Given the description of an element on the screen output the (x, y) to click on. 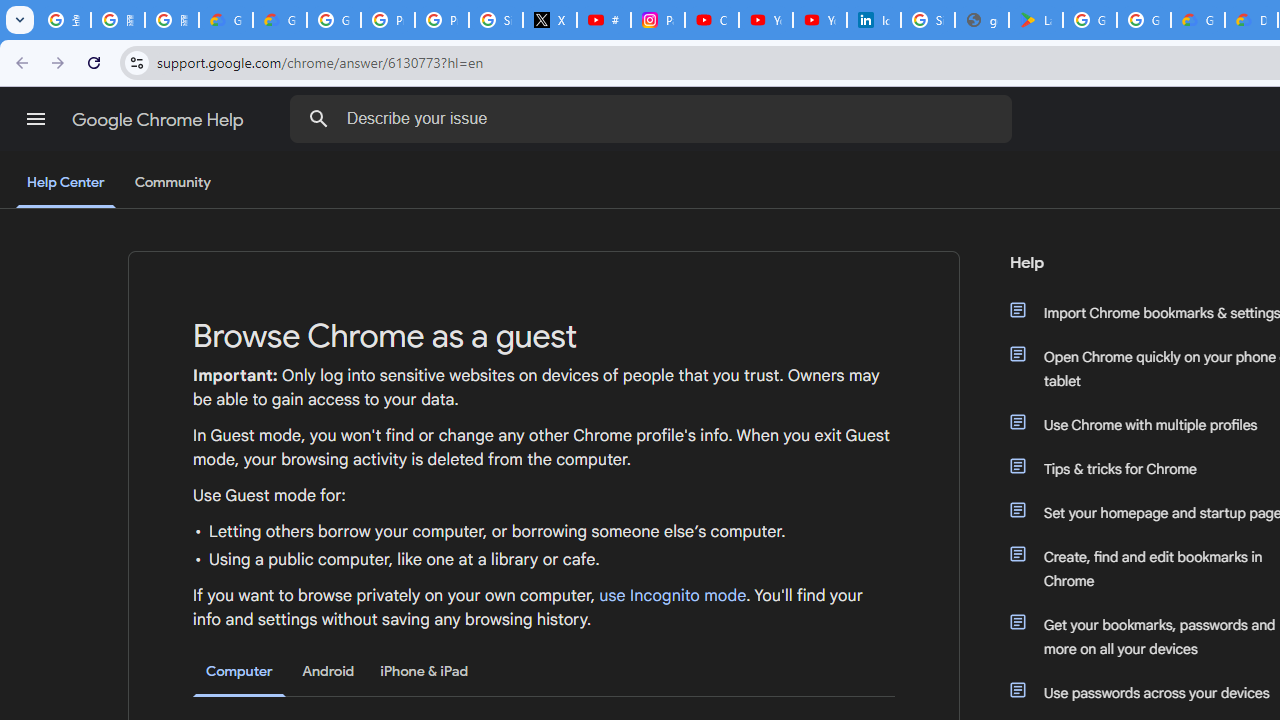
Describe your issue (653, 118)
iPhone & iPad (424, 671)
YouTube Culture & Trends - YouTube Top 10, 2021 (819, 20)
Sign in - Google Accounts (495, 20)
use Incognito mode (673, 596)
Government | Google Cloud (1197, 20)
